Given the description of an element on the screen output the (x, y) to click on. 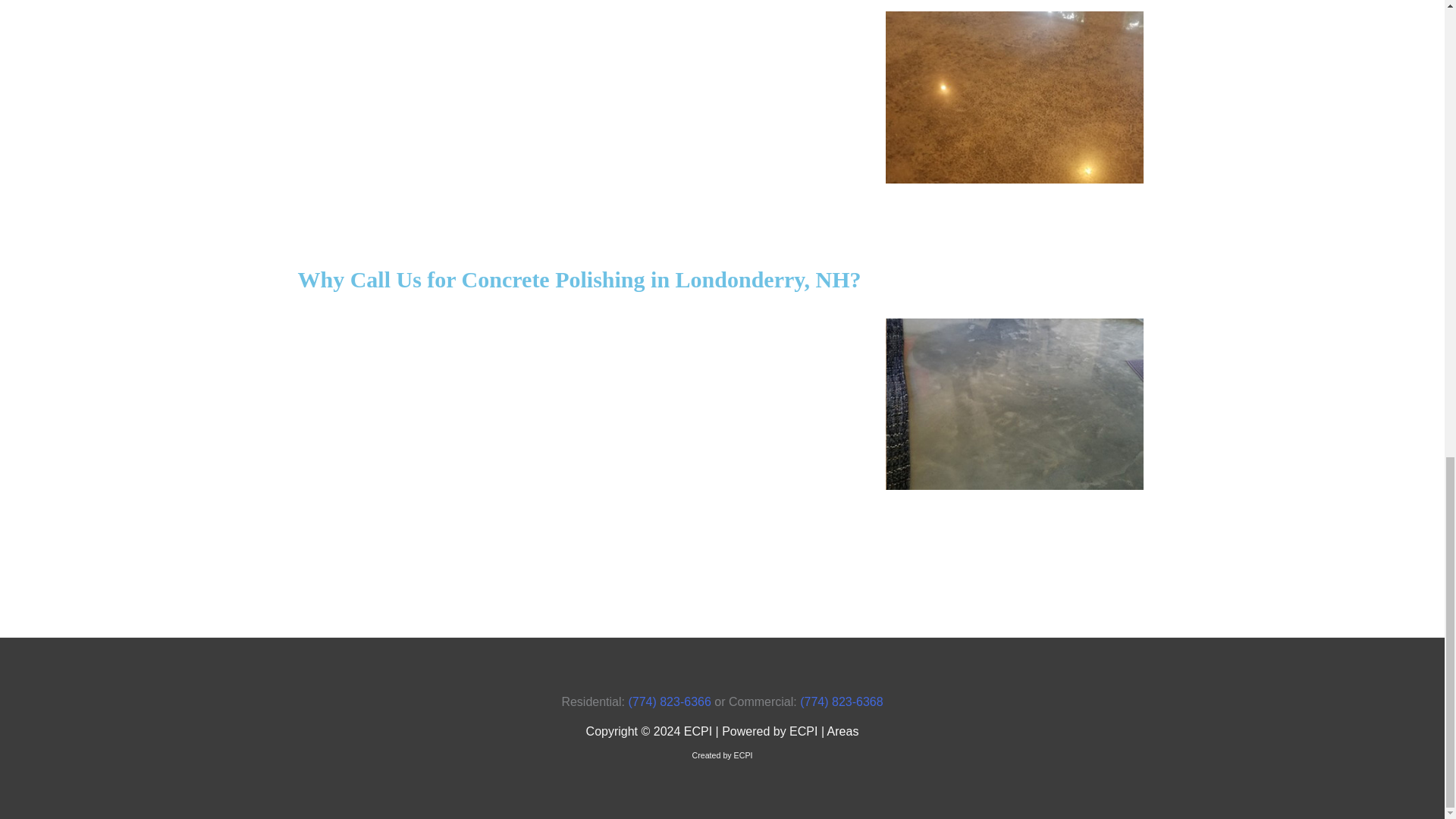
Areas (843, 730)
